Given the description of an element on the screen output the (x, y) to click on. 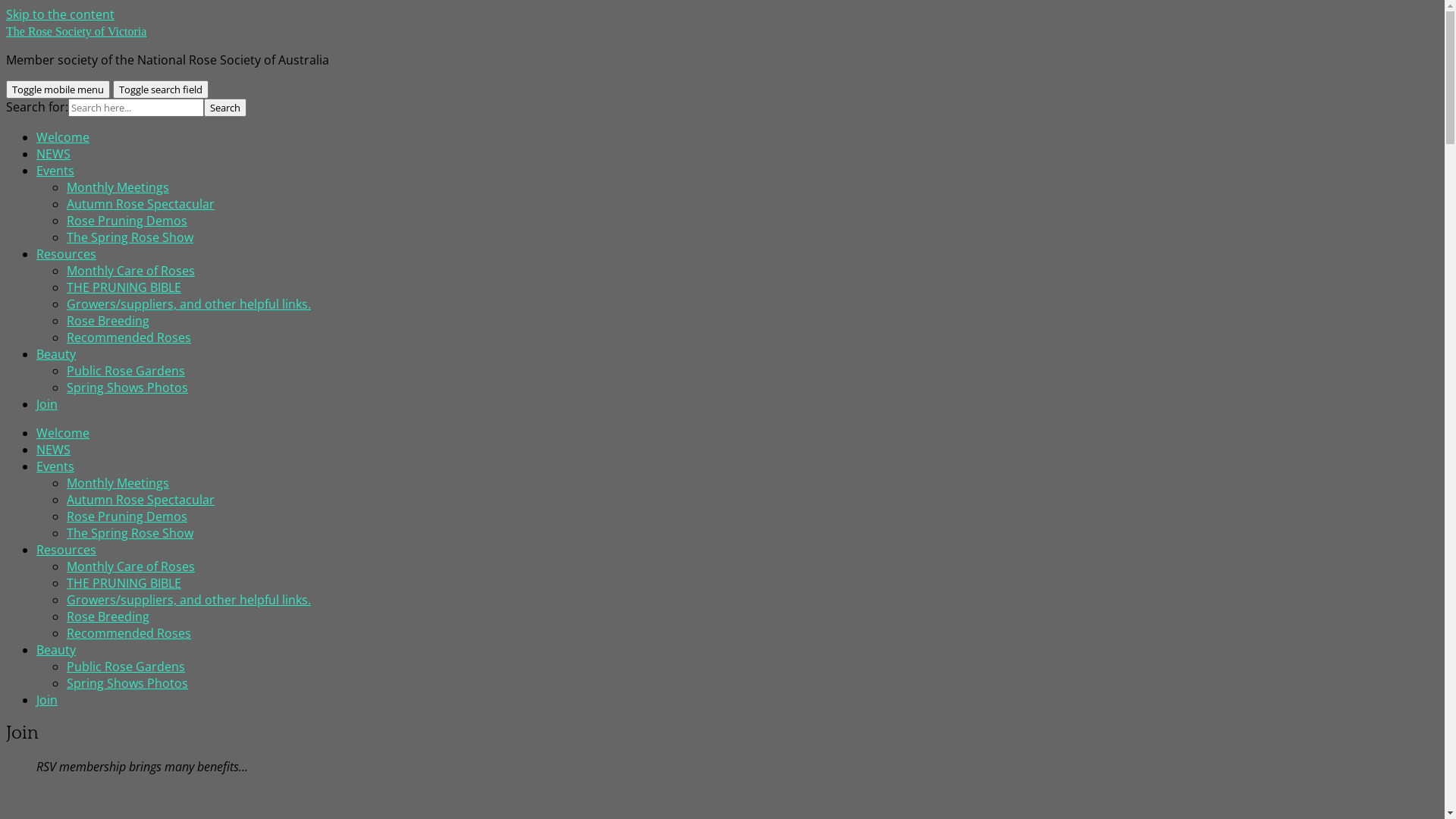
Recommended Roses Element type: text (128, 337)
Search Element type: text (224, 107)
Toggle search field Element type: text (160, 89)
The Spring Rose Show Element type: text (129, 237)
Rose Pruning Demos Element type: text (126, 220)
Growers/suppliers, and other helpful links. Element type: text (188, 303)
Events Element type: text (55, 170)
NEWS Element type: text (53, 449)
Public Rose Gardens Element type: text (125, 666)
Rose Breeding Element type: text (107, 320)
Autumn Rose Spectacular Element type: text (140, 499)
Beauty Element type: text (55, 649)
The Rose Society of Victoria Element type: text (76, 31)
Monthly Care of Roses Element type: text (130, 270)
Join Element type: text (46, 699)
Autumn Rose Spectacular Element type: text (140, 203)
Monthly Care of Roses Element type: text (130, 566)
Welcome Element type: text (62, 136)
Monthly Meetings Element type: text (117, 186)
Spring Shows Photos Element type: text (127, 387)
Toggle mobile menu Element type: text (57, 89)
Events Element type: text (55, 466)
Public Rose Gardens Element type: text (125, 370)
Resources Element type: text (66, 253)
Welcome Element type: text (62, 432)
Rose Pruning Demos Element type: text (126, 516)
Spring Shows Photos Element type: text (127, 682)
The Spring Rose Show Element type: text (129, 532)
THE PRUNING BIBLE Element type: text (123, 582)
THE PRUNING BIBLE Element type: text (123, 287)
Monthly Meetings Element type: text (117, 482)
NEWS Element type: text (53, 153)
Beauty Element type: text (55, 353)
Join Element type: text (46, 403)
Growers/suppliers, and other helpful links. Element type: text (188, 599)
Recommended Roses Element type: text (128, 632)
Rose Breeding Element type: text (107, 616)
Skip to the content Element type: text (60, 14)
Resources Element type: text (66, 549)
